Given the description of an element on the screen output the (x, y) to click on. 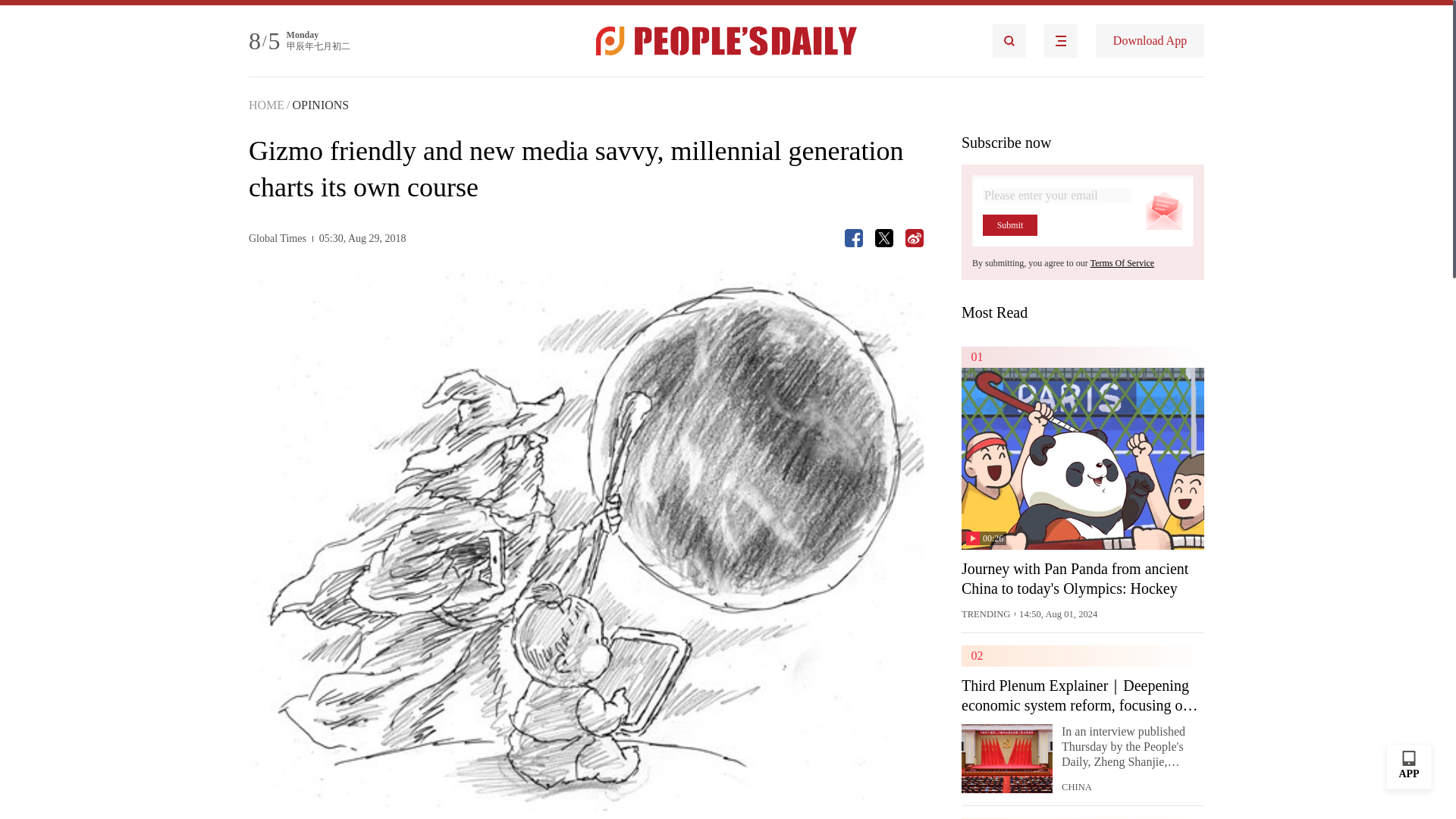
Terms Of Service (1122, 262)
HOME (265, 105)
Download App (1150, 40)
